Given the description of an element on the screen output the (x, y) to click on. 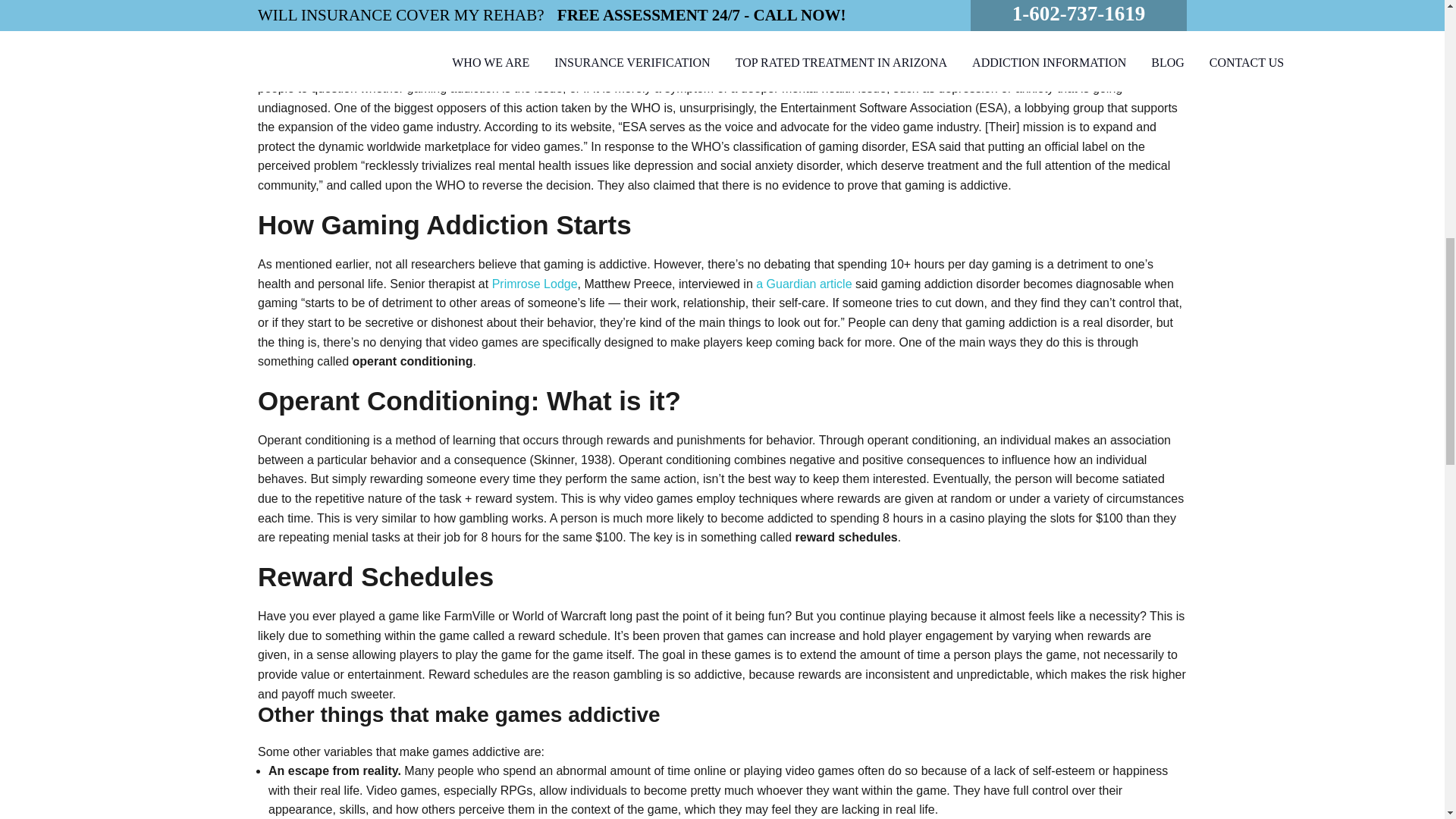
ABC News (563, 68)
Primrose Lodge (535, 283)
a Guardian article (803, 283)
